Given the description of an element on the screen output the (x, y) to click on. 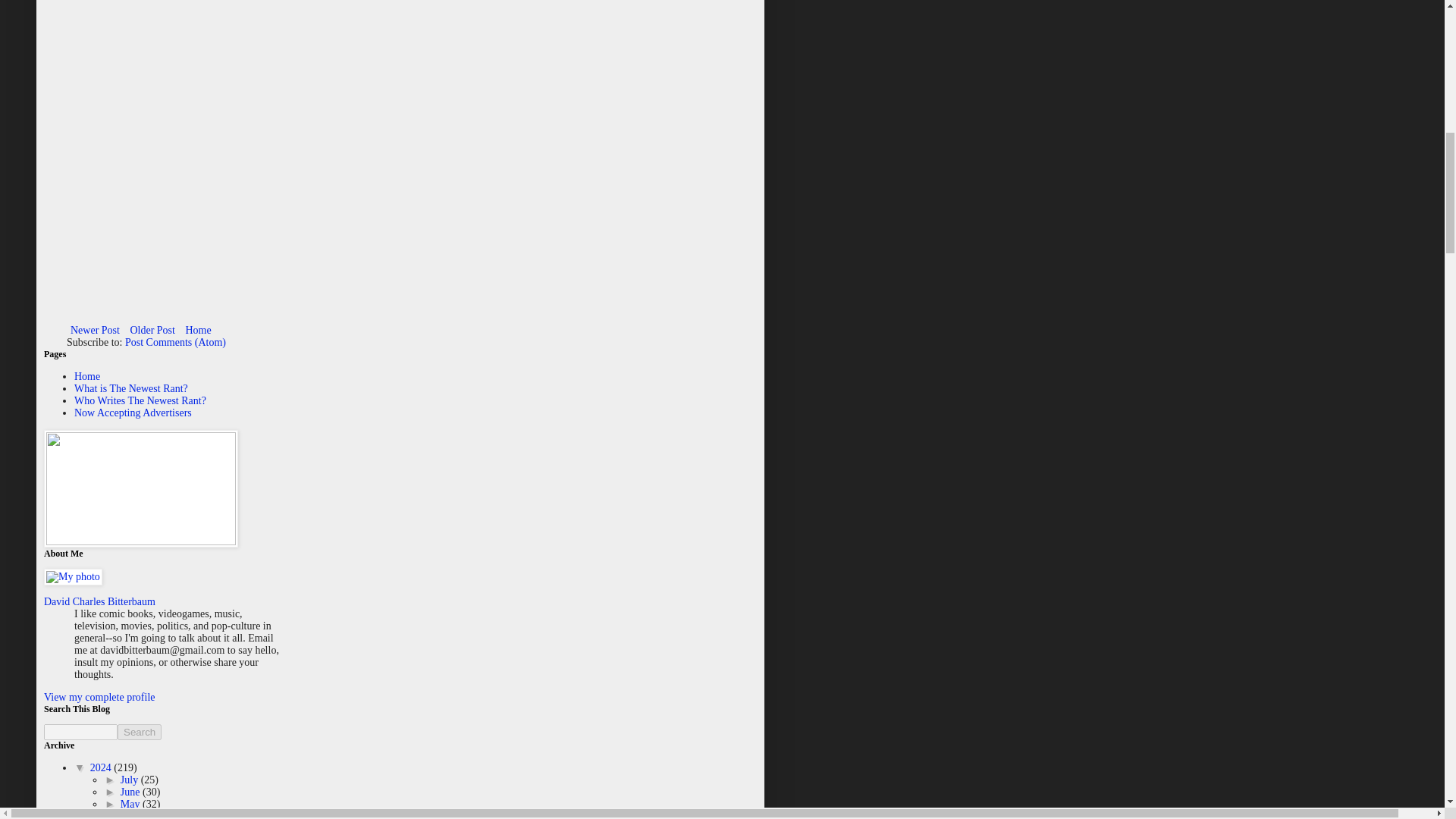
Home (87, 376)
Newer Post (94, 330)
July (130, 779)
June (131, 791)
Search (139, 731)
2024 (102, 767)
Who Writes The Newest Rant? (140, 400)
View my complete profile (99, 696)
Home (197, 330)
Search (139, 731)
search (80, 731)
What is The Newest Rant? (130, 388)
Now Accepting Advertisers (133, 412)
David Charles Bitterbaum (99, 601)
Search (139, 731)
